Given the description of an element on the screen output the (x, y) to click on. 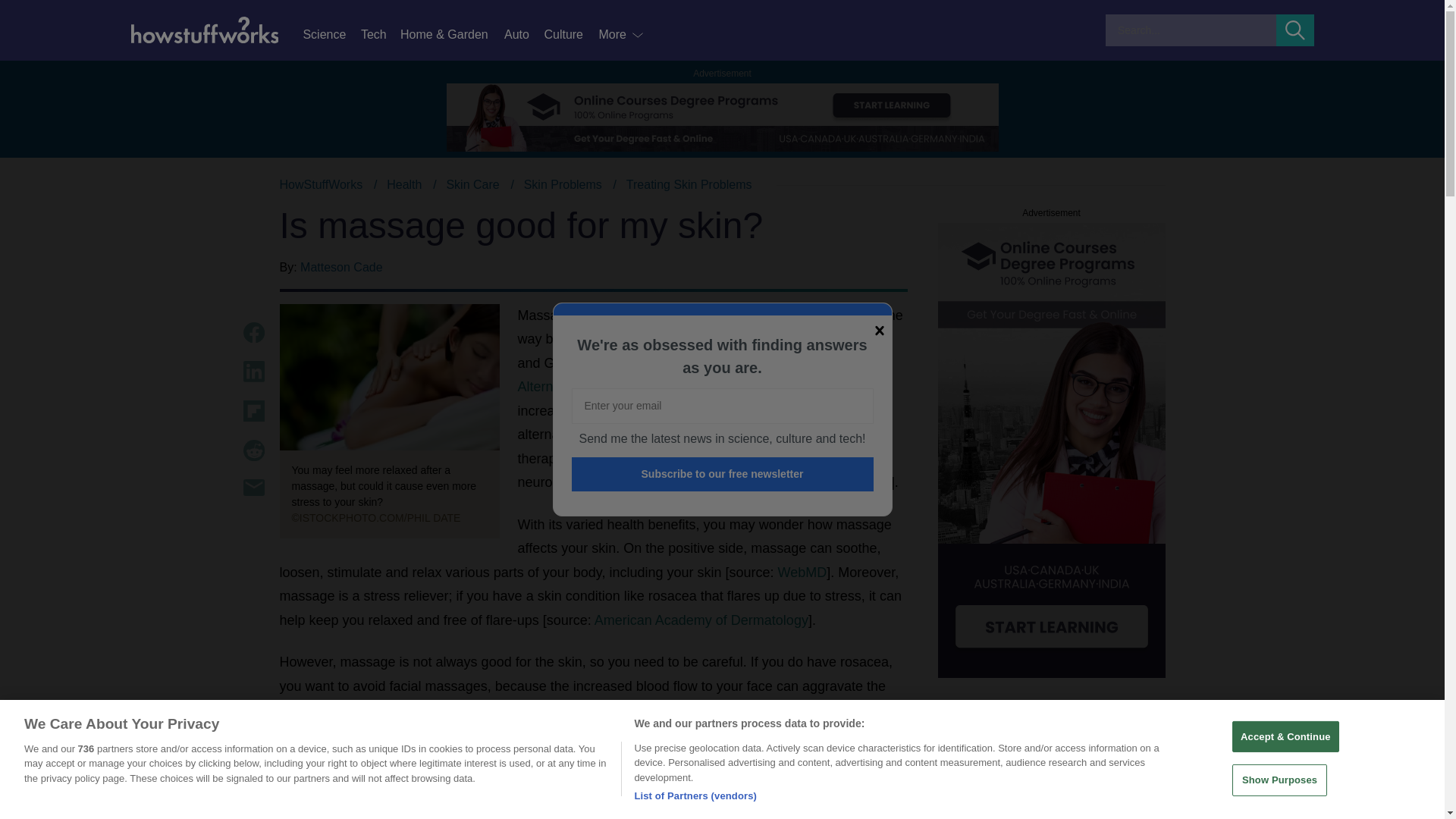
Subscribe to our free newsletter (722, 474)
Health (404, 184)
Culture (570, 34)
Auto (523, 34)
Share Content via Email (253, 487)
Submit Search (1295, 29)
More (621, 34)
Tech (380, 34)
Share Content on Reddit (253, 450)
Skin Care (472, 184)
Share Content on Flipboard (253, 410)
Share Content on LinkedIn (253, 371)
Share Content on Facebook (253, 332)
Science (330, 34)
